Given the description of an element on the screen output the (x, y) to click on. 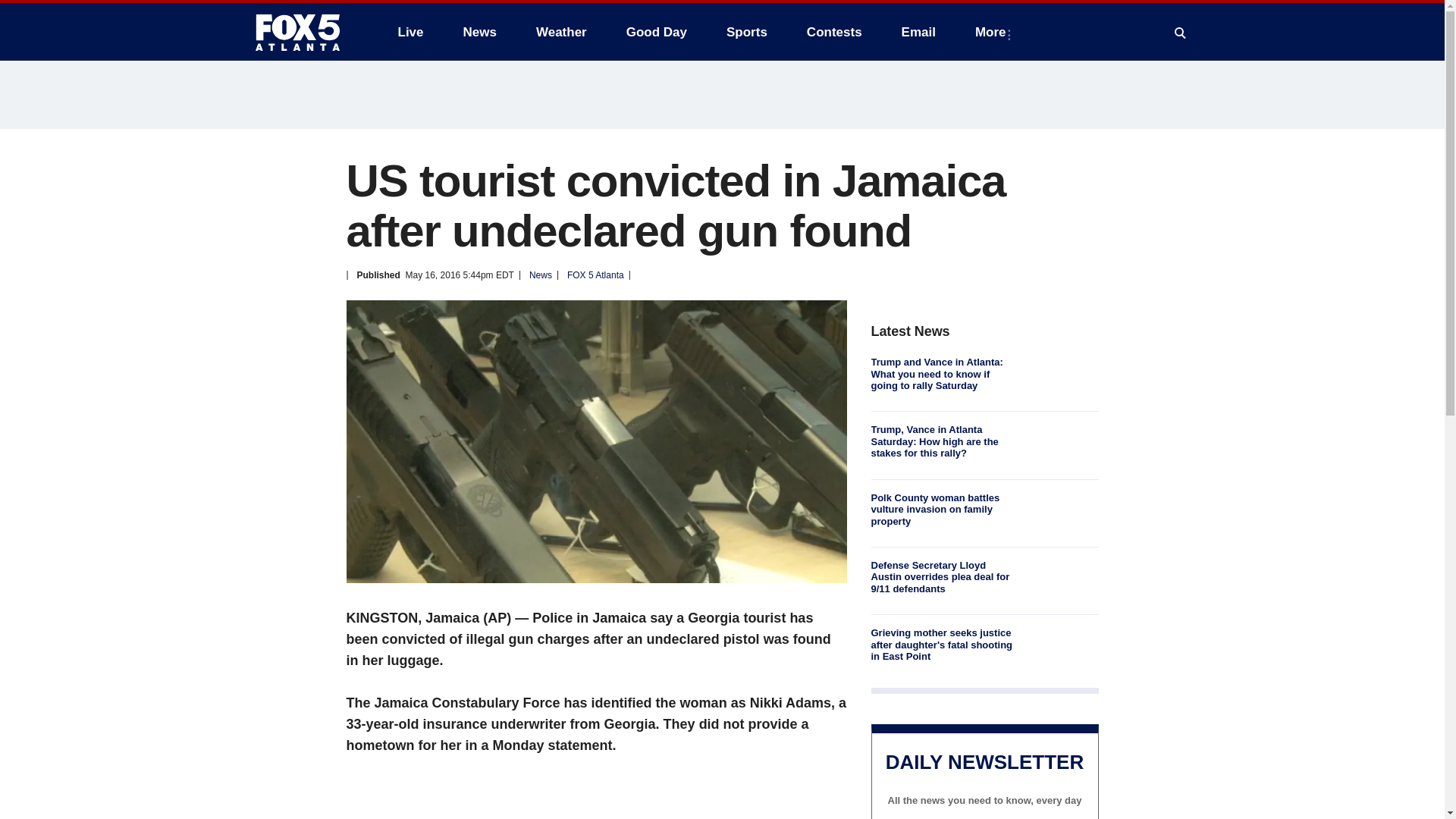
Sports (746, 32)
Weather (561, 32)
Good Day (656, 32)
More (993, 32)
News (479, 32)
Email (918, 32)
Contests (834, 32)
Live (410, 32)
